Given the description of an element on the screen output the (x, y) to click on. 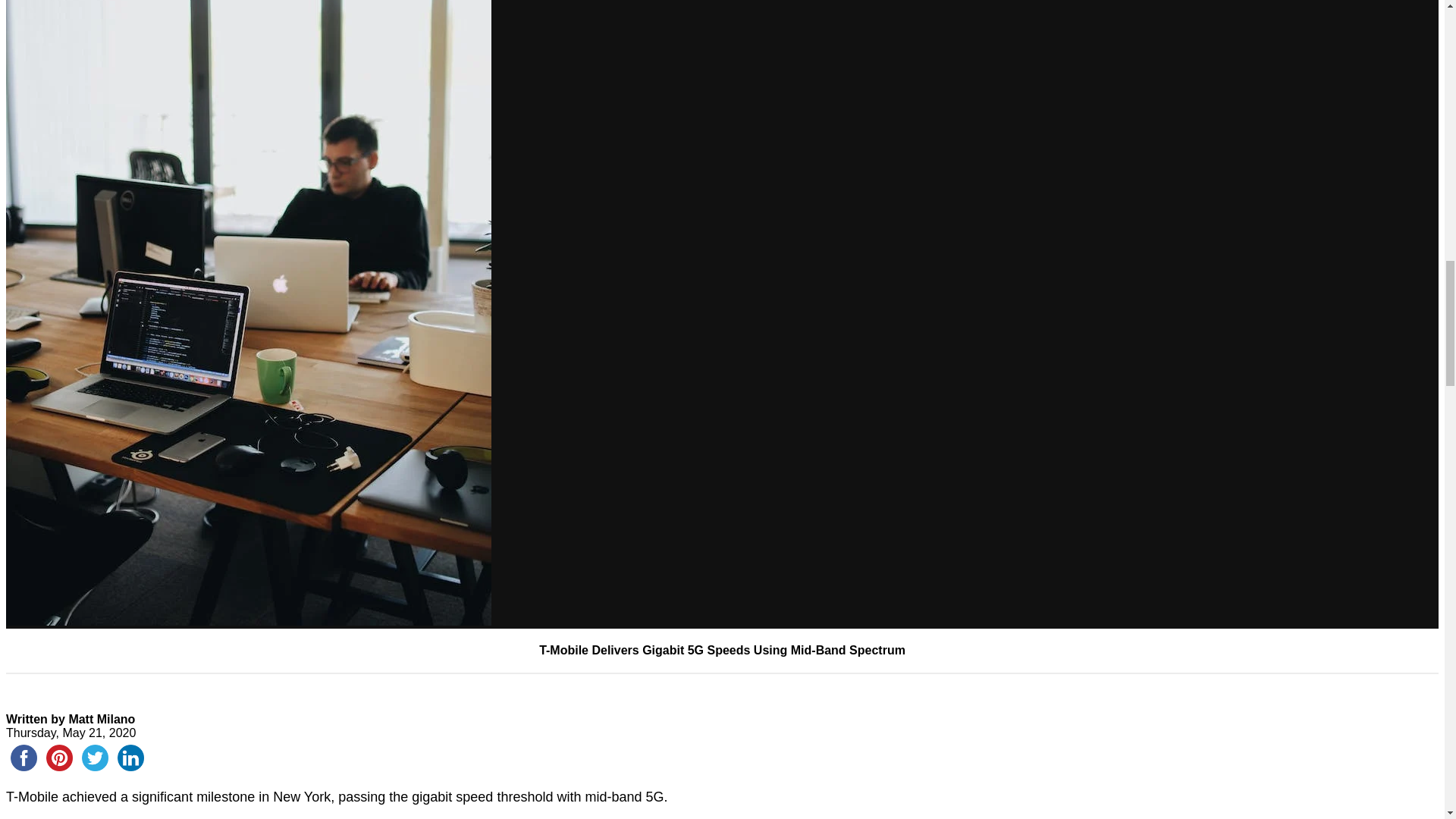
pinterest (59, 757)
linkedin (130, 757)
twitter (95, 757)
facebook (23, 757)
